Given the description of an element on the screen output the (x, y) to click on. 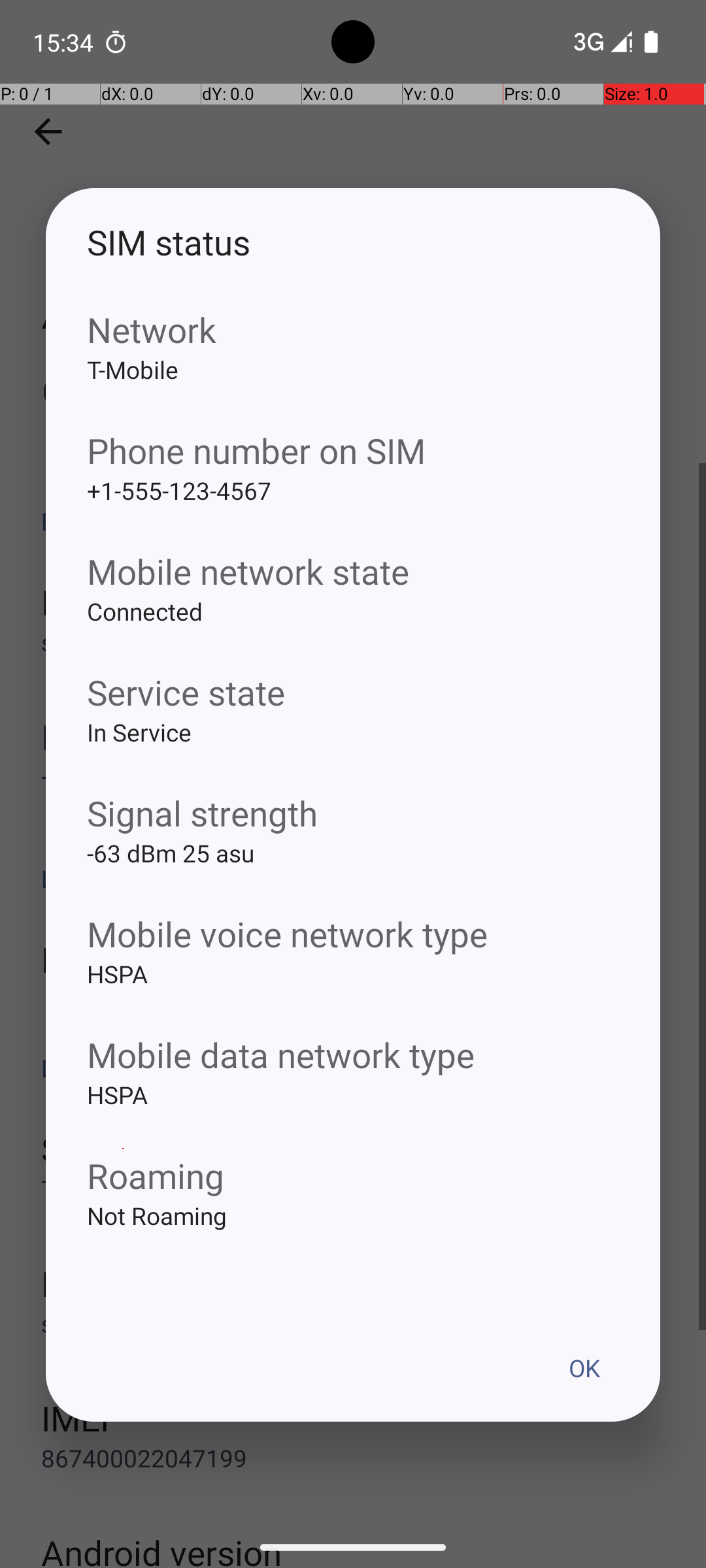
SIM status Element type: android.widget.TextView (352, 241)
Network Element type: android.widget.TextView (352, 329)
Phone number on SIM Element type: android.widget.TextView (352, 450)
+1-555-123-4567 Element type: android.widget.TextView (352, 510)
Mobile network state Element type: android.widget.TextView (352, 571)
Connected Element type: android.widget.TextView (352, 631)
Service state Element type: android.widget.TextView (352, 692)
In Service Element type: android.widget.TextView (352, 752)
Signal strength Element type: android.widget.TextView (352, 812)
-63 dBm 25 asu Element type: android.widget.TextView (352, 873)
Mobile voice network type Element type: android.widget.TextView (352, 933)
HSPA Element type: android.widget.TextView (352, 994)
Mobile data network type Element type: android.widget.TextView (352, 1054)
Roaming Element type: android.widget.TextView (352, 1175)
Not Roaming Element type: android.widget.TextView (352, 1235)
